Given the description of an element on the screen output the (x, y) to click on. 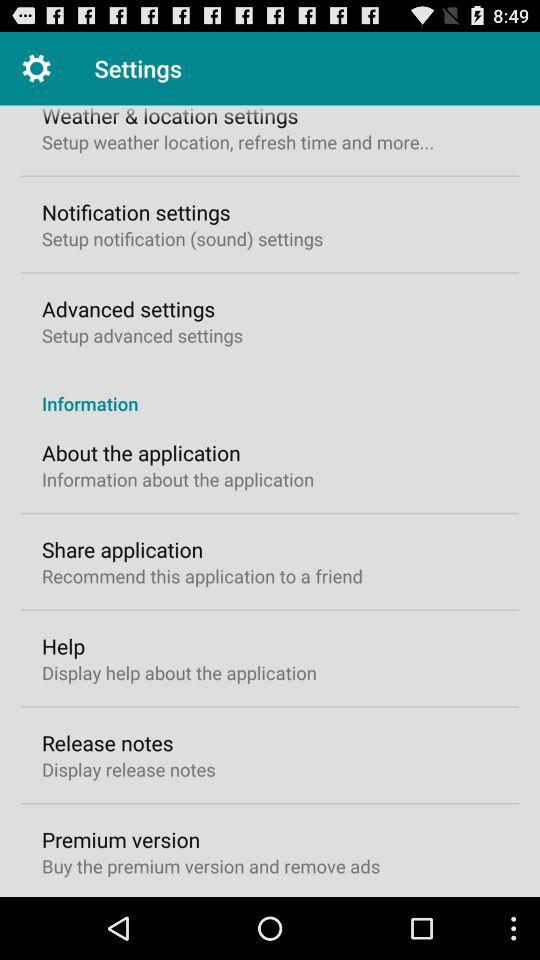
flip to the share application (122, 549)
